Given the description of an element on the screen output the (x, y) to click on. 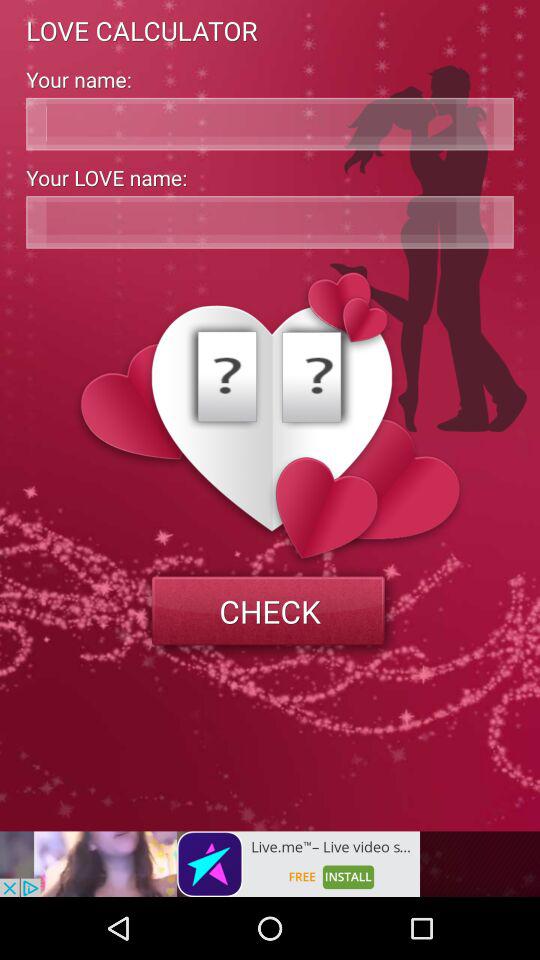
advertisement (210, 864)
